Given the description of an element on the screen output the (x, y) to click on. 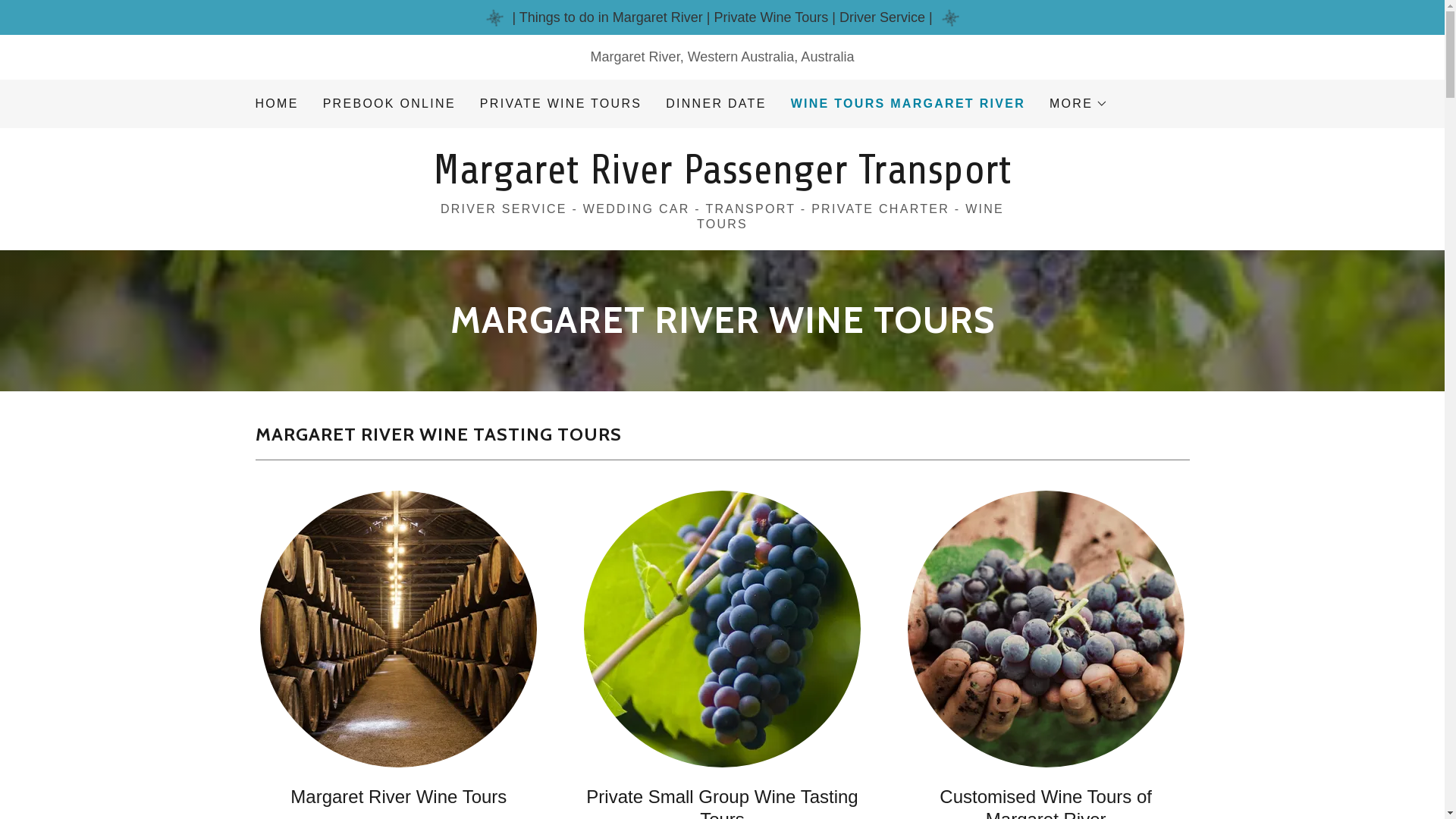
DINNER DATE Element type: text (715, 103)
MORE Element type: text (1078, 103)
PREBOOK ONLINE Element type: text (389, 103)
Margaret River Passenger Transport Element type: text (722, 178)
PRIVATE WINE TOURS Element type: text (560, 103)
WINE TOURS MARGARET RIVER Element type: text (907, 103)
HOME Element type: text (276, 103)
